Given the description of an element on the screen output the (x, y) to click on. 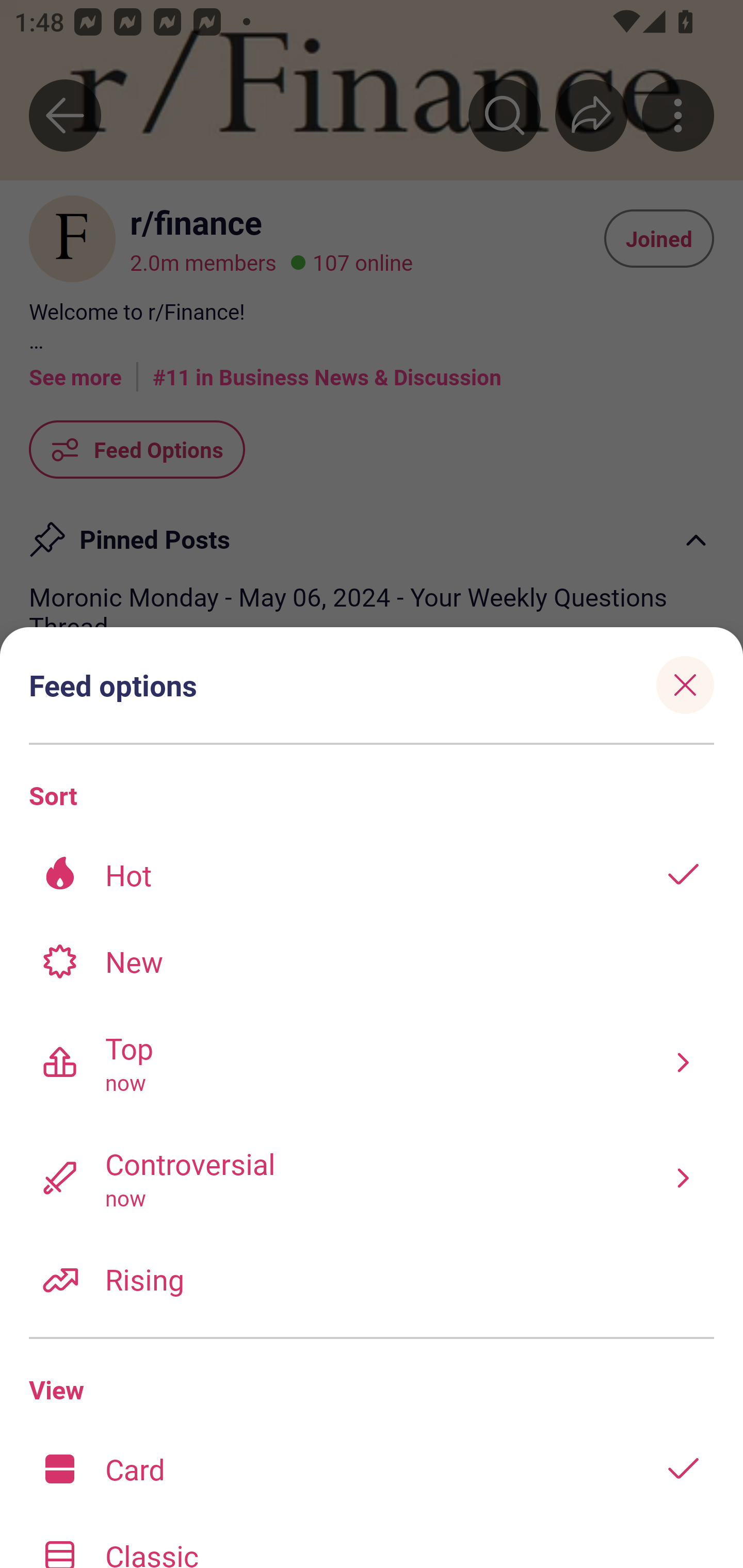
Close sheet (684, 684)
Hot (371, 874)
New (371, 961)
Top now (371, 1062)
Controversial now (371, 1177)
Rising (371, 1278)
Card (371, 1468)
Classic (371, 1539)
